Given the description of an element on the screen output the (x, y) to click on. 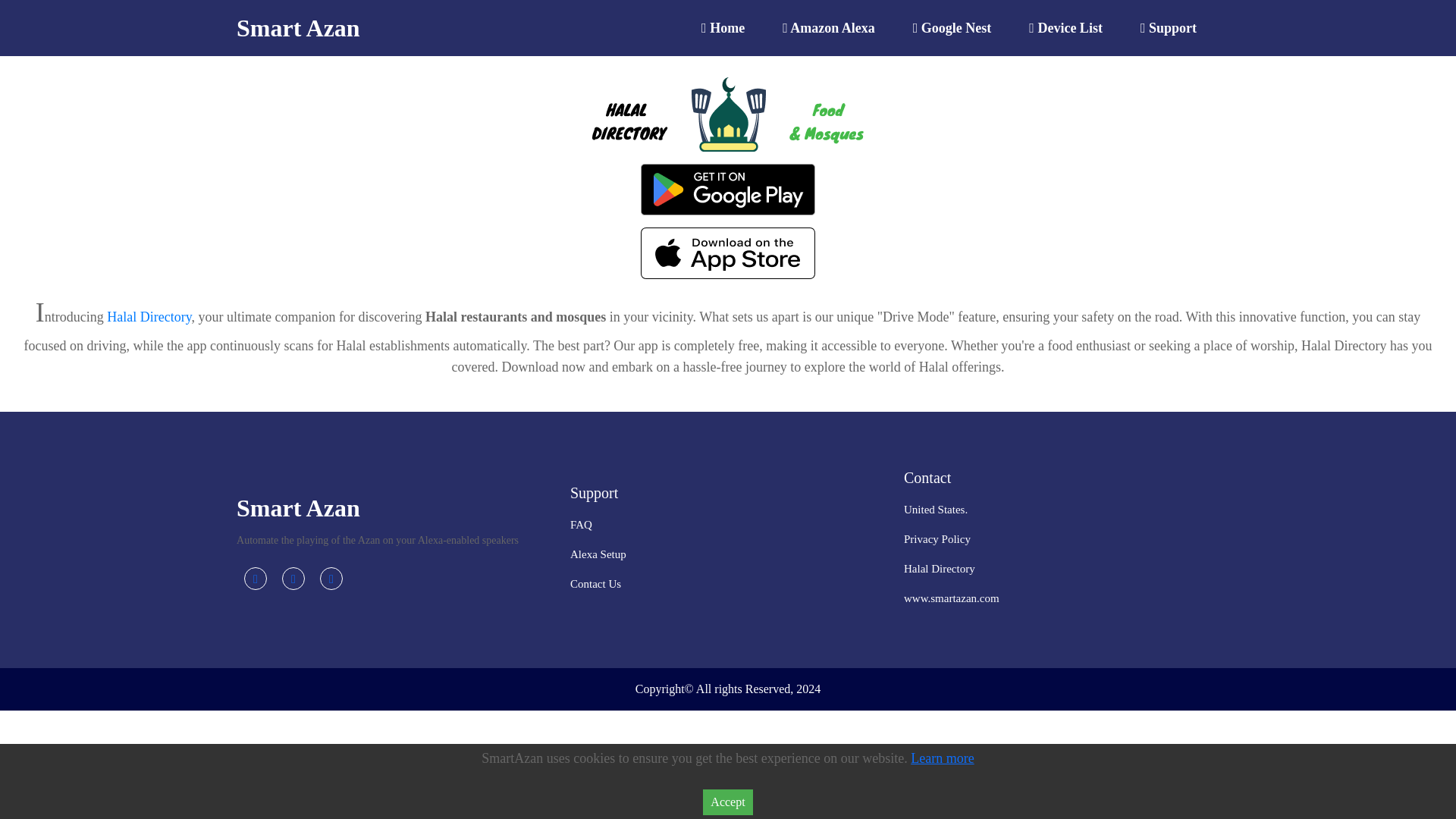
FAQ (581, 524)
Alexa Setup (598, 553)
Accept (727, 801)
Amazon Alexa (828, 28)
Google Nest (952, 28)
Contact Us (595, 583)
Learn more (942, 758)
United States. (936, 509)
Privacy Policy (937, 539)
Home (722, 28)
